Given the description of an element on the screen output the (x, y) to click on. 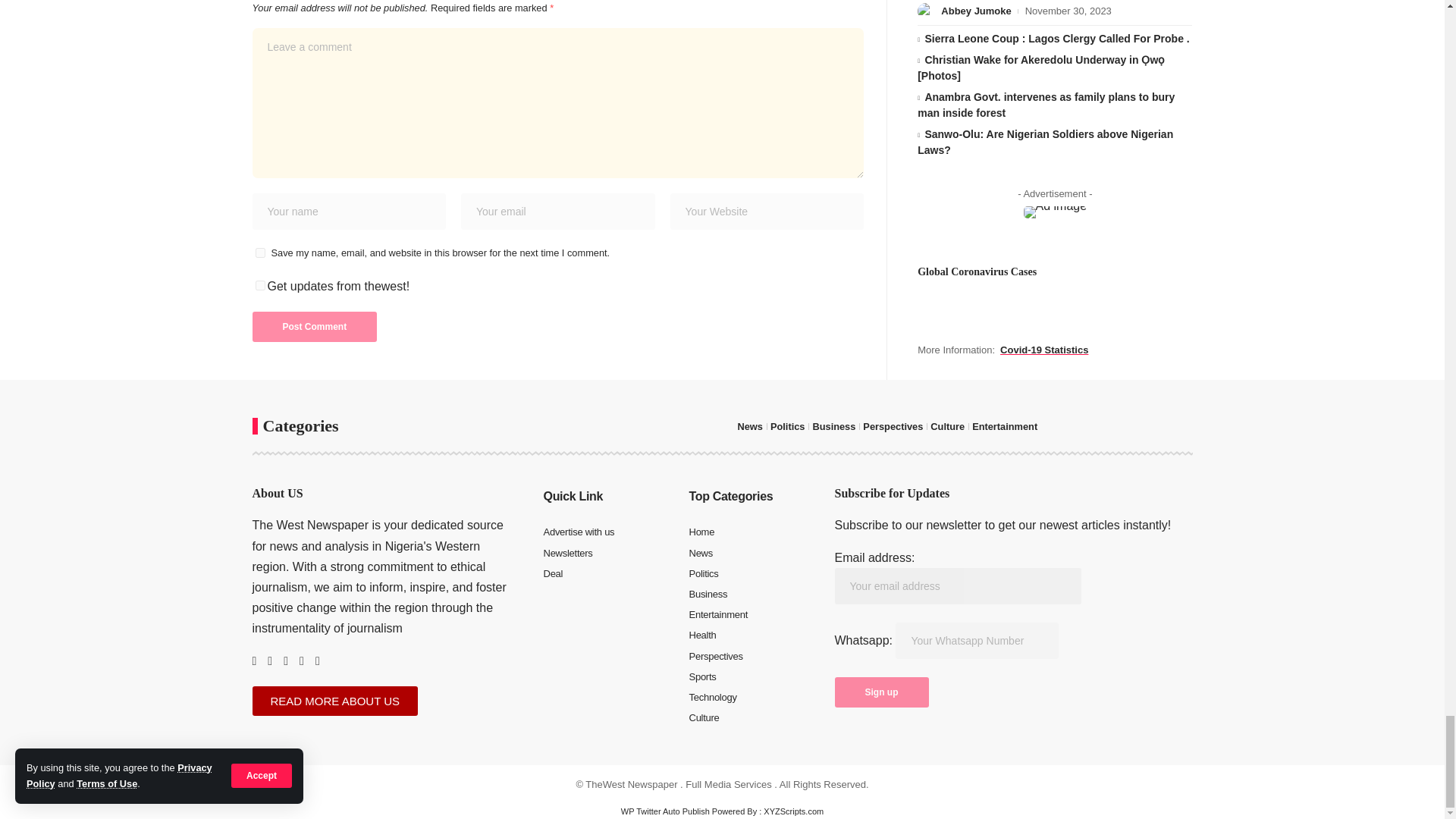
yes (259, 252)
1 (259, 285)
Sign up (881, 692)
Post Comment (314, 327)
WP Twitter Auto Publish (665, 810)
